Given the description of an element on the screen output the (x, y) to click on. 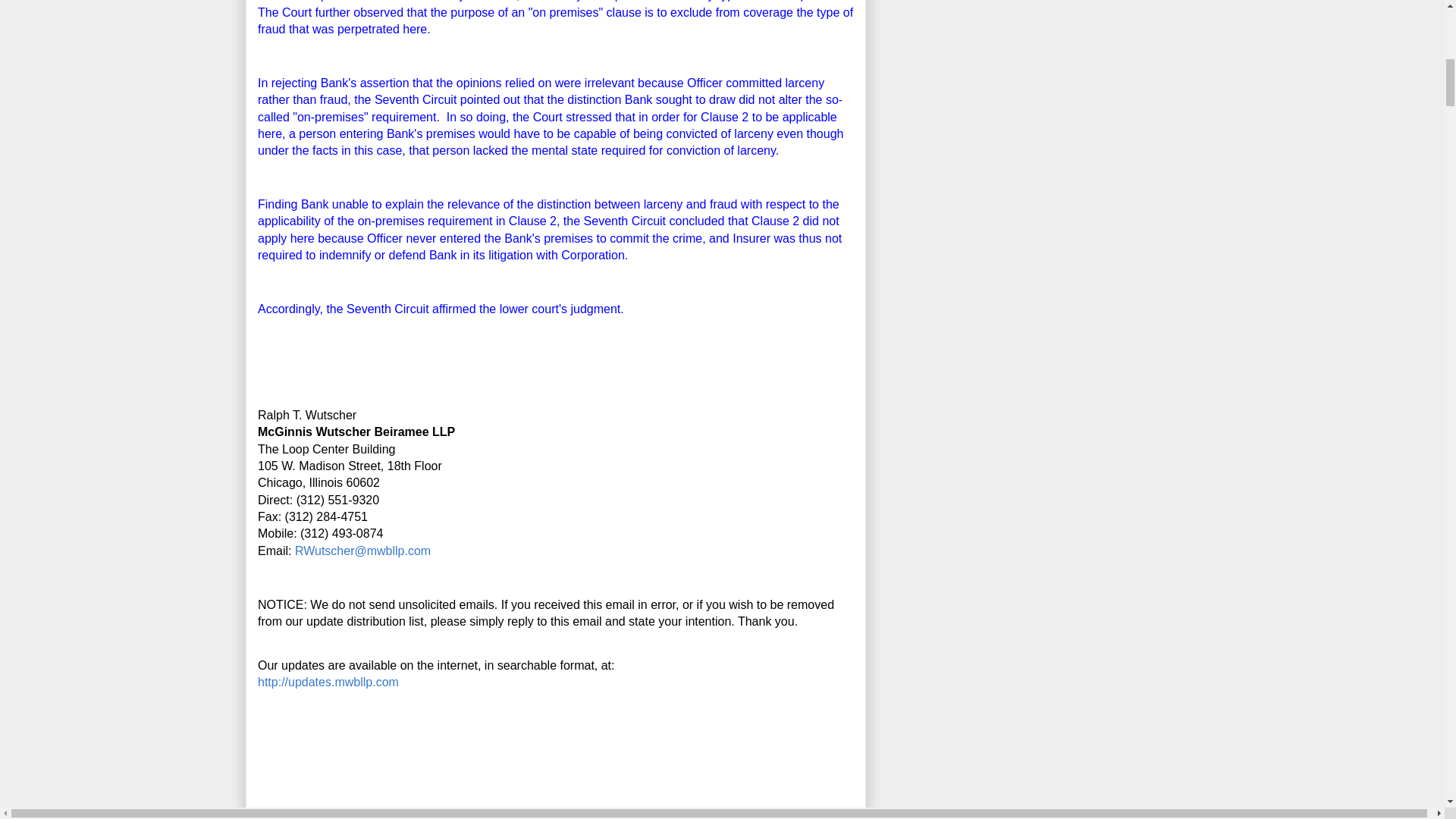
permanent link (414, 816)
author profile (345, 816)
Edit Post (458, 816)
Email Post (443, 816)
Ralph T. Wutscher (345, 816)
